Given the description of an element on the screen output the (x, y) to click on. 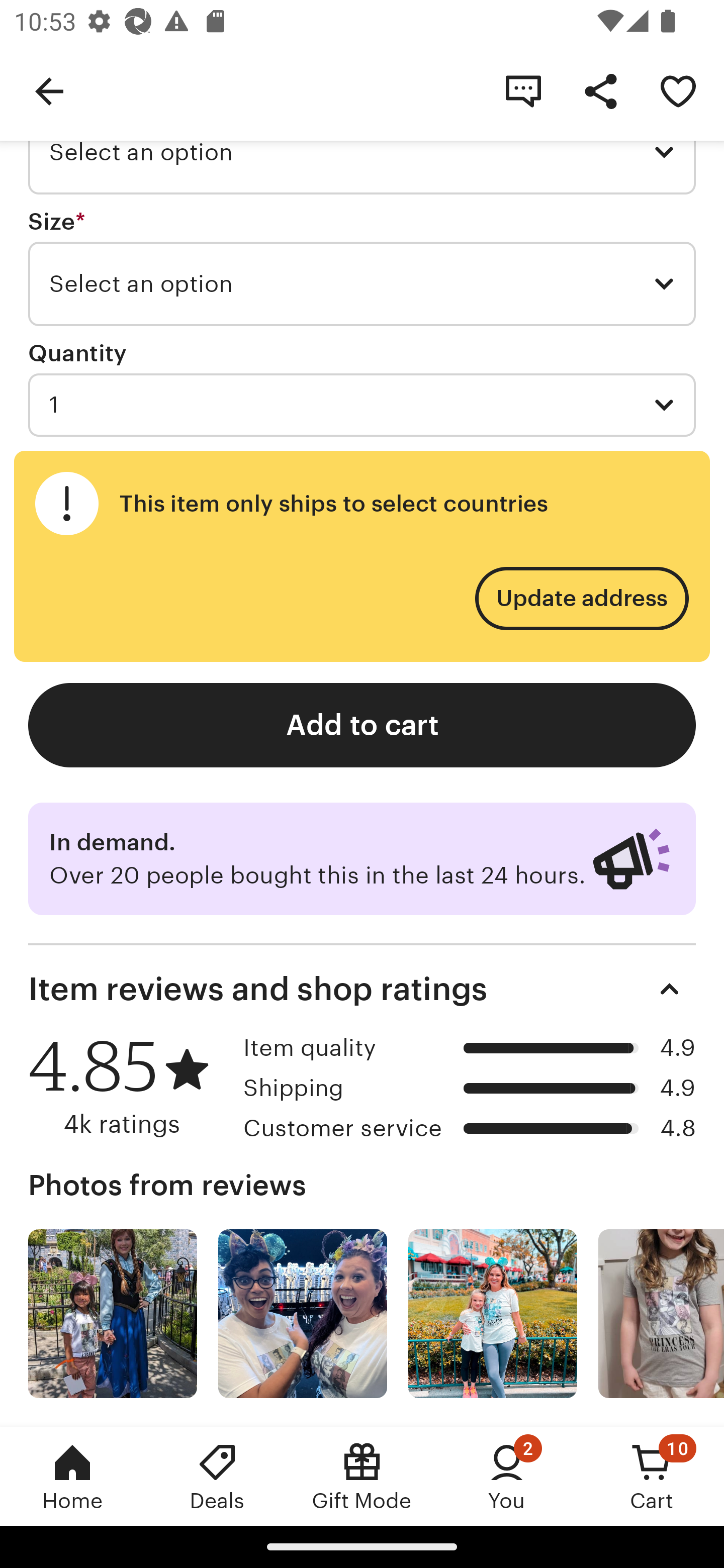
Navigate up (49, 90)
Contact shop (523, 90)
Share (600, 90)
Select an option (361, 151)
Size * Required Select an option (361, 267)
Select an option (361, 283)
Quantity (77, 353)
1 (361, 405)
Update address (581, 598)
Add to cart (361, 724)
Item reviews and shop ratings (362, 988)
4.85 4k ratings (128, 1086)
Photo from review (112, 1313)
Photo from review (302, 1313)
Photo from review (492, 1313)
Photo from review (661, 1313)
Deals (216, 1475)
Gift Mode (361, 1475)
You, 2 new notifications You (506, 1475)
Cart, 10 new notifications Cart (651, 1475)
